Given the description of an element on the screen output the (x, y) to click on. 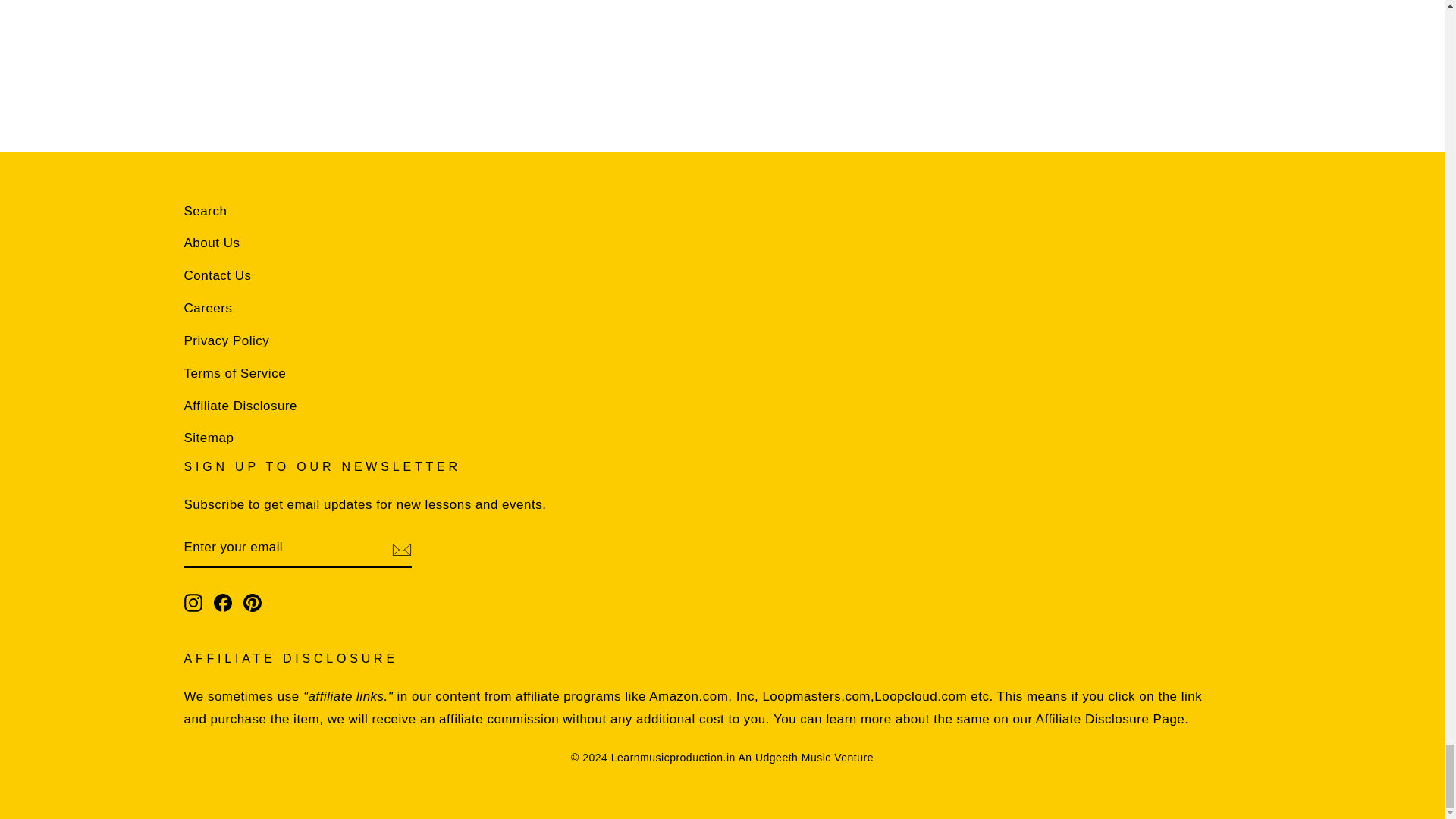
Careers (207, 308)
About Us (211, 243)
Contact Us (216, 276)
Learnmusicproduction.in on Pinterest (251, 602)
Search (205, 211)
Learnmusicproduction.in on Facebook (222, 602)
Learnmusicproduction.in on Instagram (192, 602)
